Given the description of an element on the screen output the (x, y) to click on. 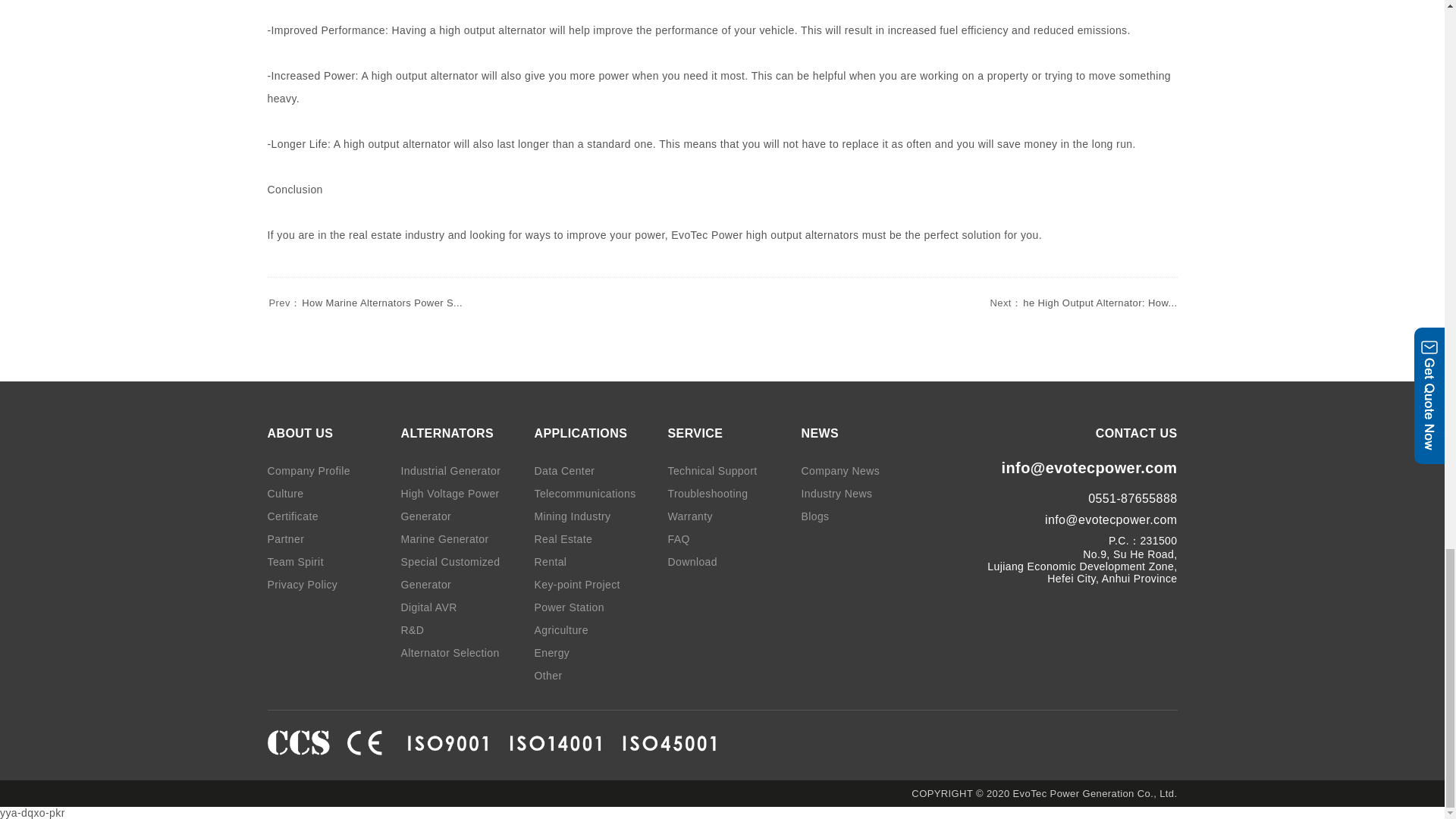
How Marine Alternators Power Ships (364, 302)
